Given the description of an element on the screen output the (x, y) to click on. 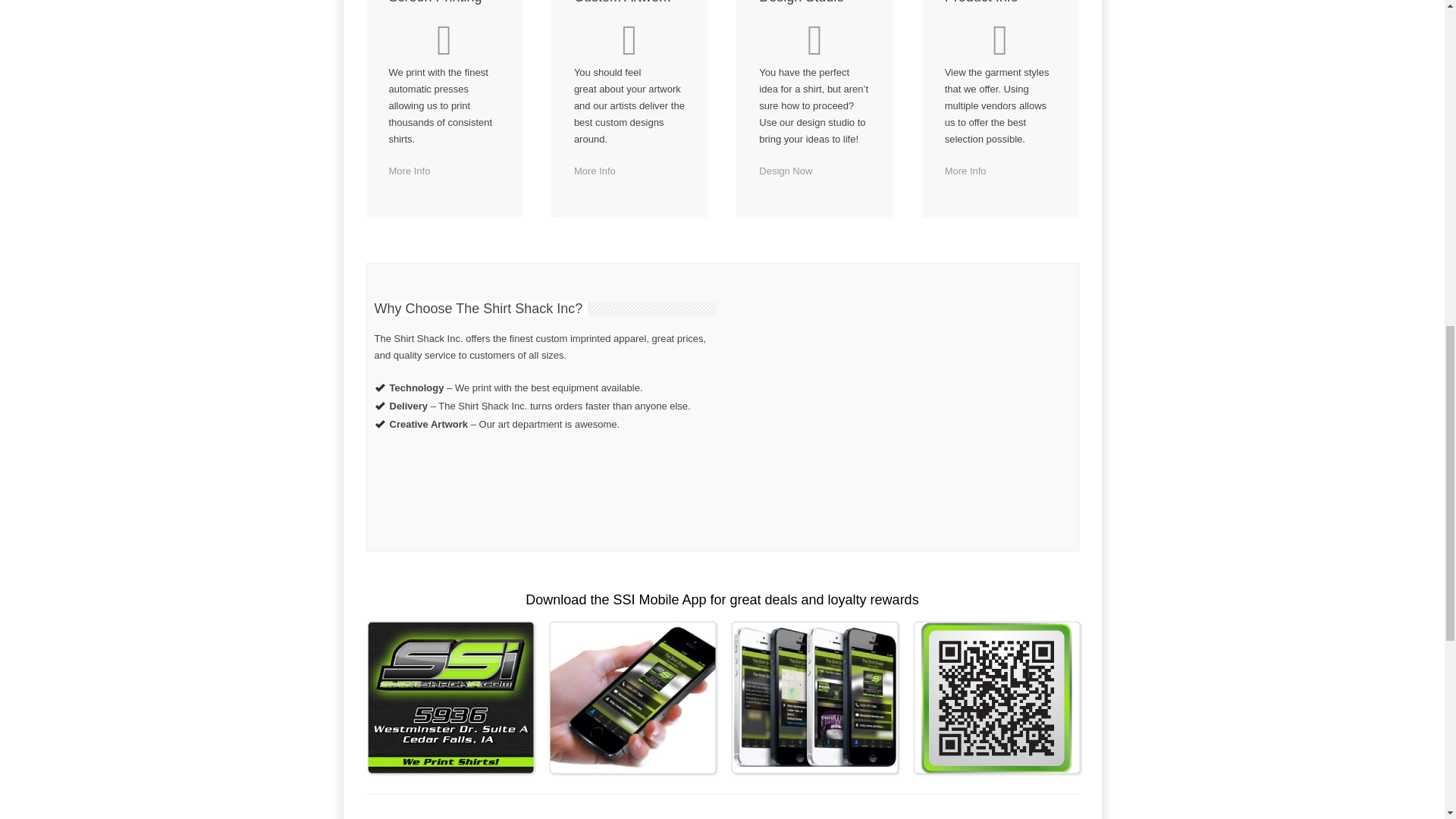
About Us (965, 170)
About Us (408, 170)
About Us (594, 170)
Design Studio (785, 170)
More Info (965, 170)
Design Now (785, 170)
More Info (594, 170)
More Info (408, 170)
